Given the description of an element on the screen output the (x, y) to click on. 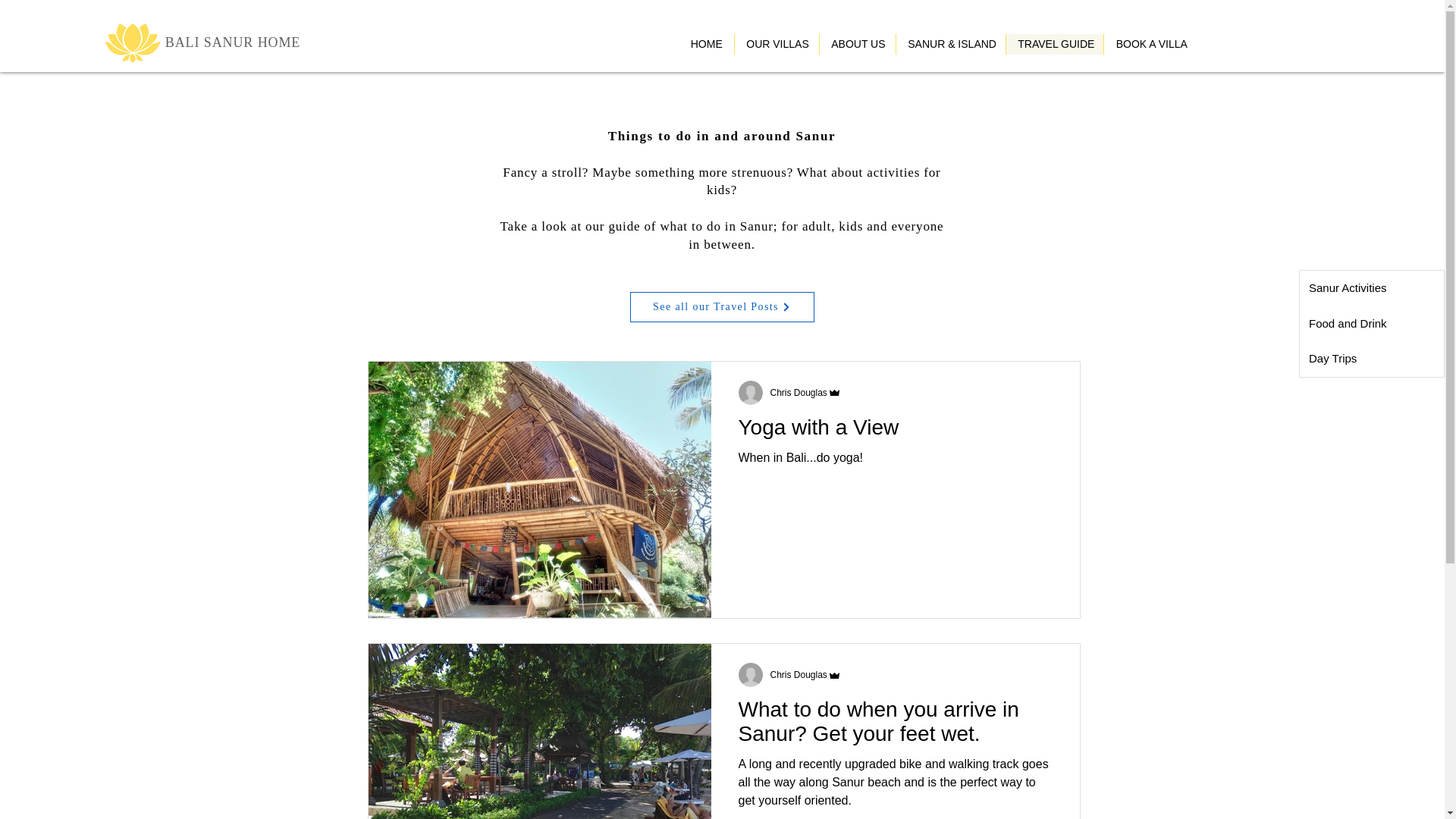
HOME (705, 44)
What to do when you arrive in Sanur? Get your feet wet. (895, 725)
Day Trips (1372, 358)
BALI SANUR HOME (233, 42)
Sanur Activities (1372, 288)
BOOK A VILLA (1150, 44)
Food and Drink (1372, 324)
Chris Douglas (805, 675)
Chris Douglas (798, 674)
Yoga with a View (895, 431)
OUR VILLAS (775, 44)
ABOUT US (856, 44)
TRAVEL GUIDE (1054, 44)
See all our Travel Posts (720, 306)
Chris Douglas (805, 391)
